Given the description of an element on the screen output the (x, y) to click on. 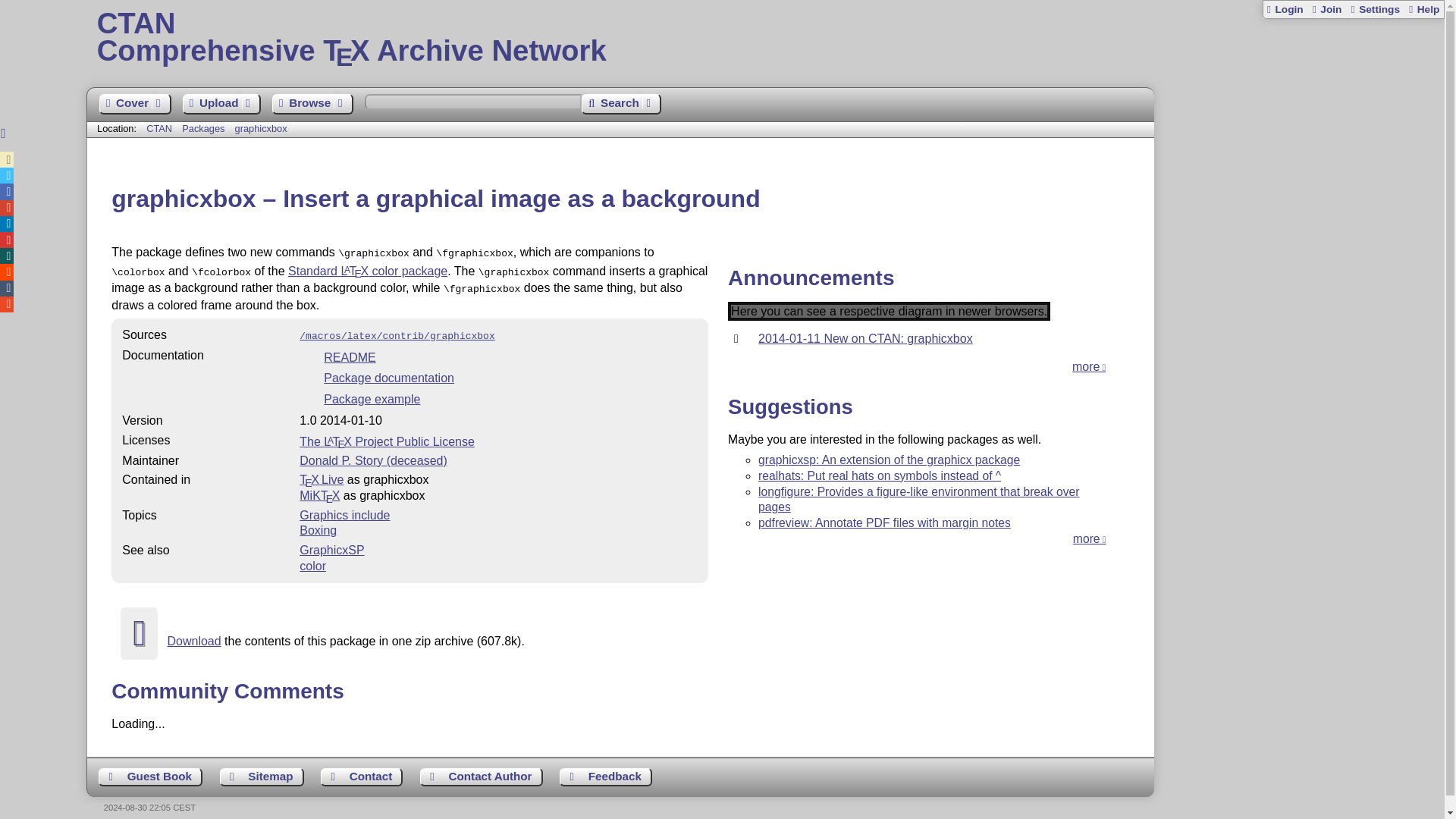
Portable Document Format (498, 378)
Get contact information for the Web site (361, 777)
Read Me file (498, 358)
Send feedback on the current web page to the Web masters (605, 777)
Package documentation (388, 377)
Adjust the appearance to your taste (1374, 8)
Get help on how to contact an author (481, 777)
The LATEX Project Public License (386, 440)
Search (620, 104)
Spectrum indicating the announcements for the package (888, 311)
